Given the description of an element on the screen output the (x, y) to click on. 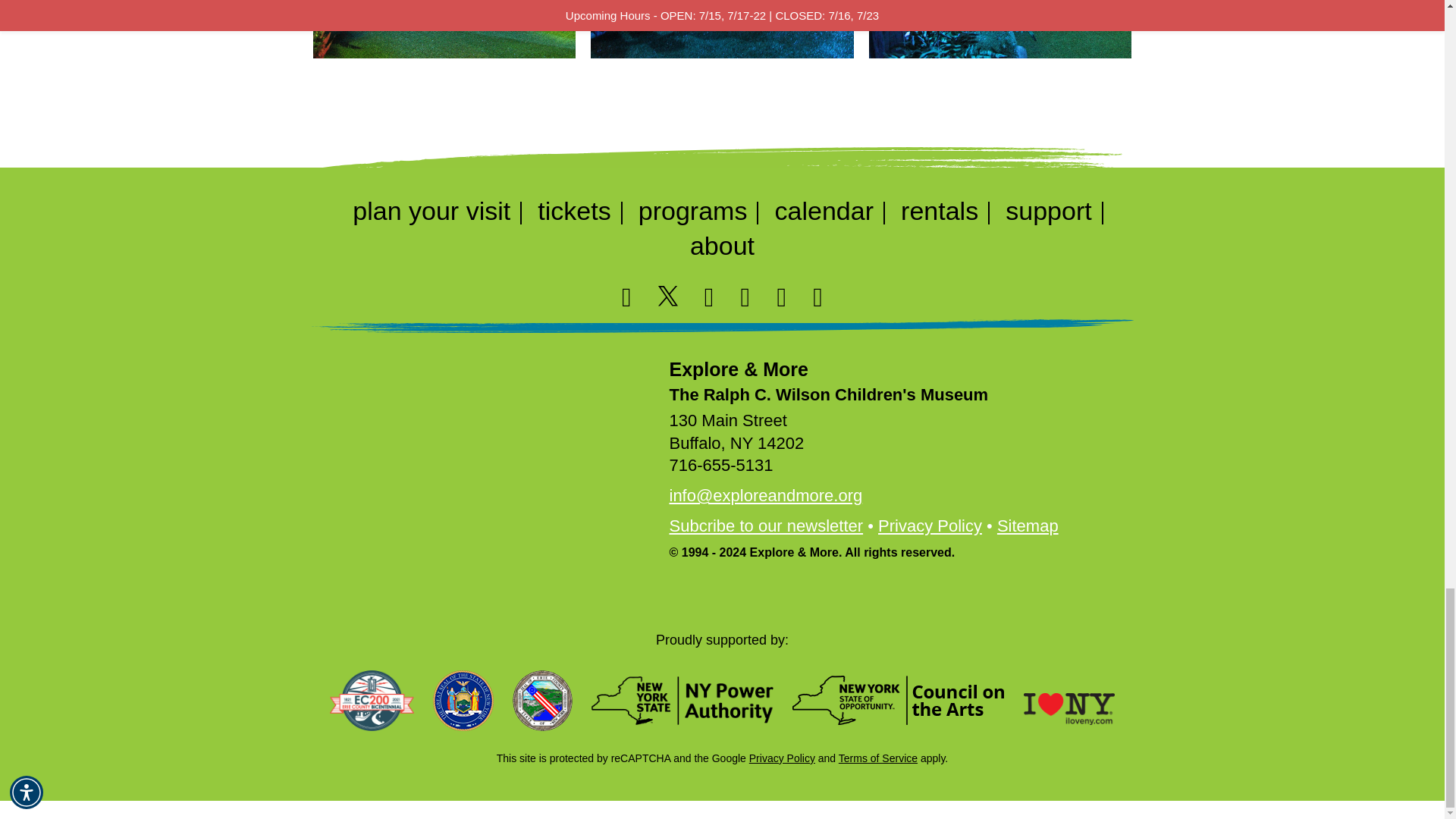
Treehouse-Bridge-Litup-0611-4x6 (722, 29)
Treehouse-Back-Slide-0575-4x6 (1000, 29)
Treehouse-Back-Climb-0556-4x6 (444, 29)
